Given the description of an element on the screen output the (x, y) to click on. 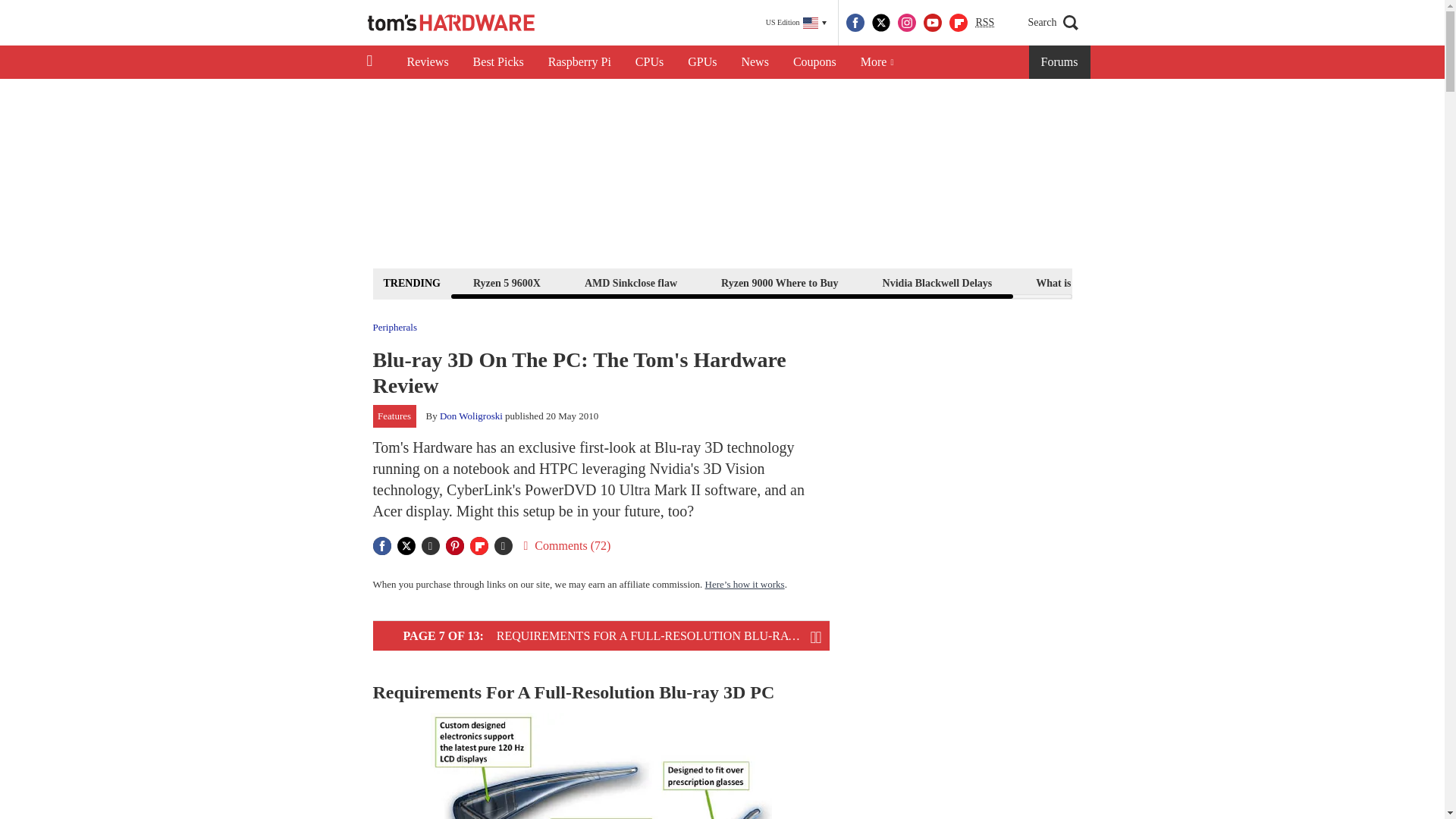
Forums (1059, 61)
RSS (984, 22)
CPUs (649, 61)
Really Simple Syndication (984, 21)
Raspberry Pi (579, 61)
Coupons (814, 61)
US Edition (796, 22)
GPUs (702, 61)
Ryzen 5 9600X (506, 282)
Reviews (427, 61)
